Given the description of an element on the screen output the (x, y) to click on. 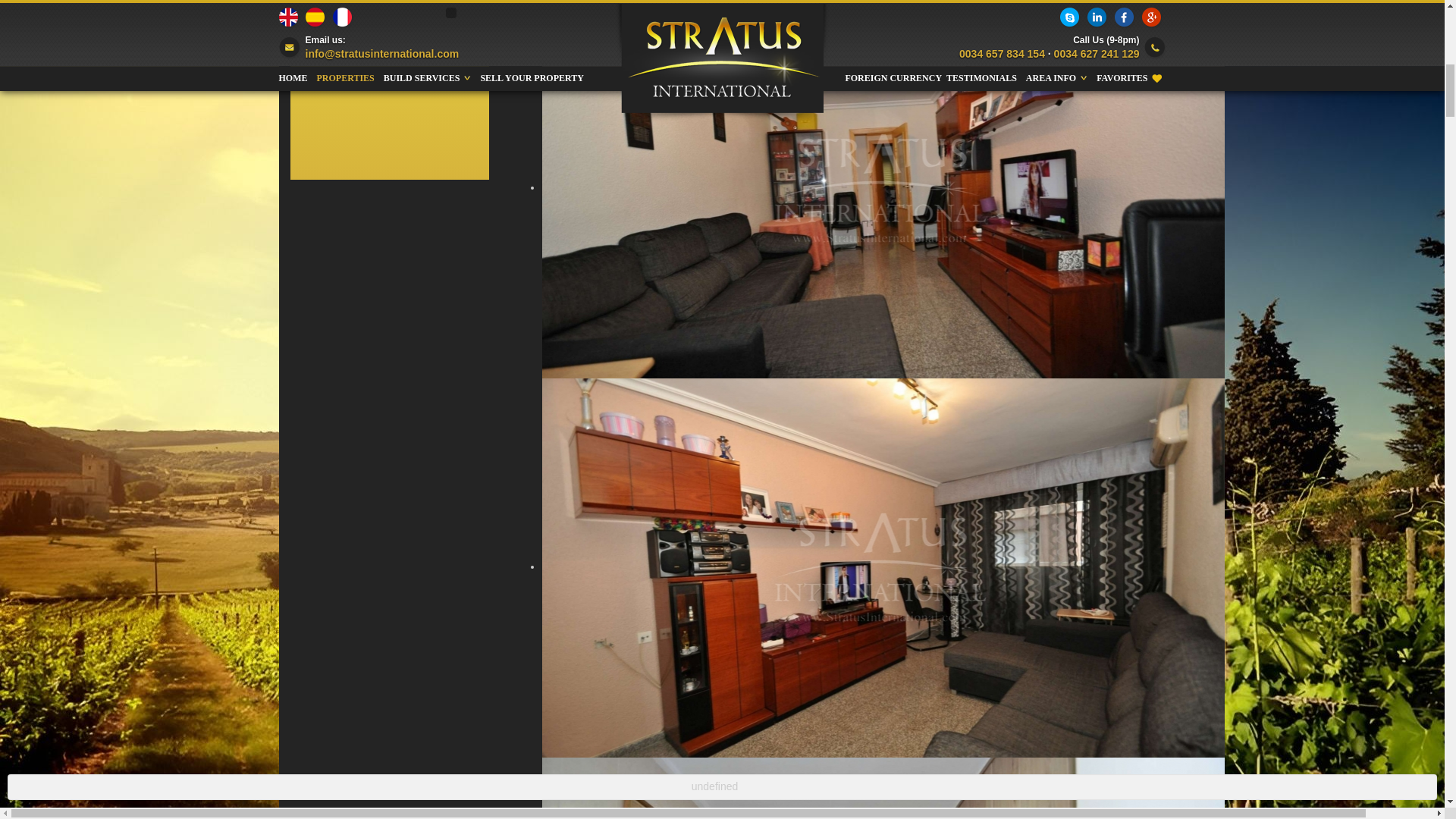
Request Information (389, 47)
